Given the description of an element on the screen output the (x, y) to click on. 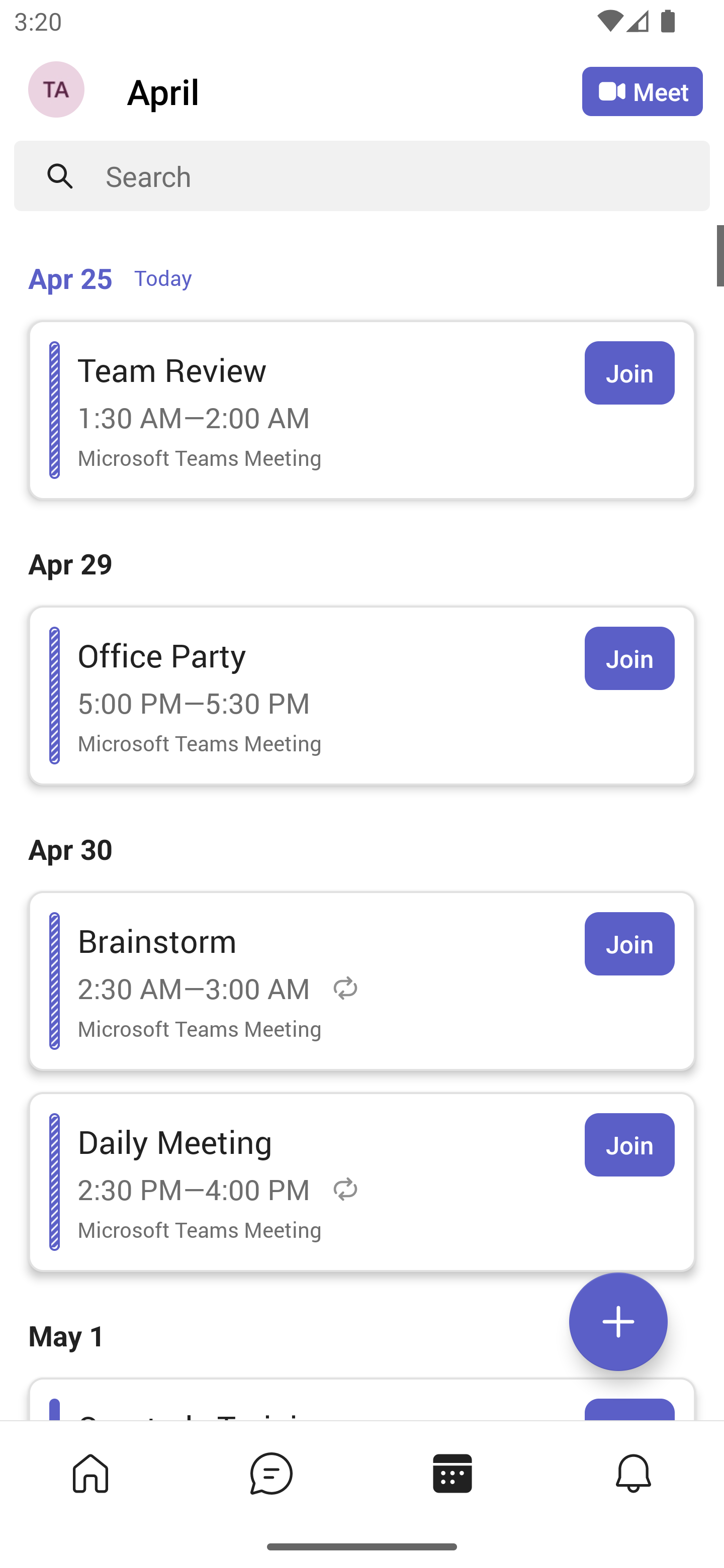
Navigation (58, 91)
Meet Meet now or join with an ID (642, 91)
April April Calendar Agenda View (354, 90)
Search (407, 176)
Join (629, 372)
Join (629, 658)
Join (629, 943)
Join (629, 1144)
Expand meetings menu (618, 1321)
Home tab,1 of 4, not selected (90, 1472)
Chat tab,2 of 4, not selected (271, 1472)
Calendar tab, 3 of 4 (452, 1472)
Activity tab,4 of 4, not selected (633, 1472)
